Given the description of an element on the screen output the (x, y) to click on. 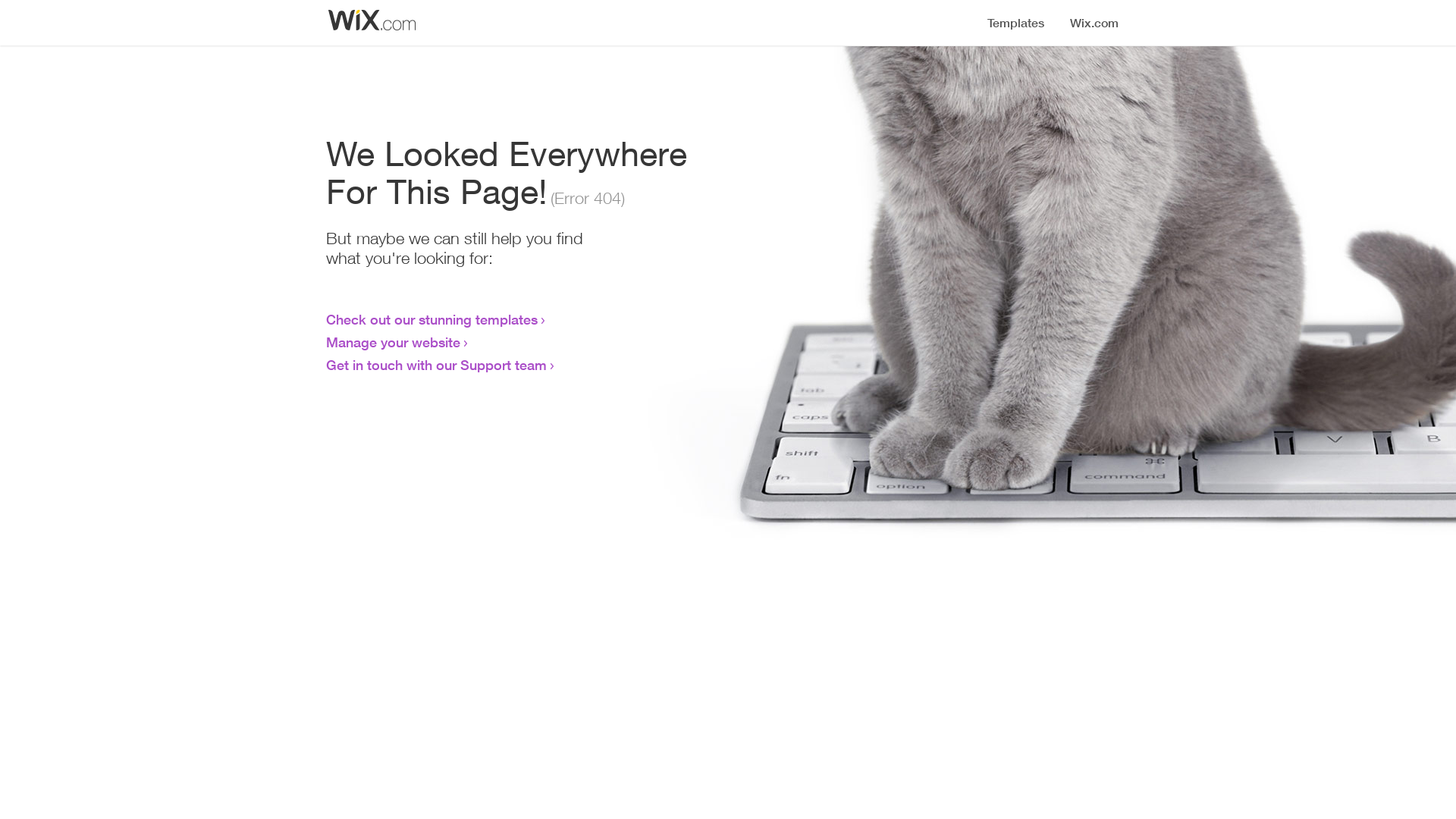
Check out our stunning templates Element type: text (431, 318)
Manage your website Element type: text (393, 341)
Get in touch with our Support team Element type: text (436, 364)
